Given the description of an element on the screen output the (x, y) to click on. 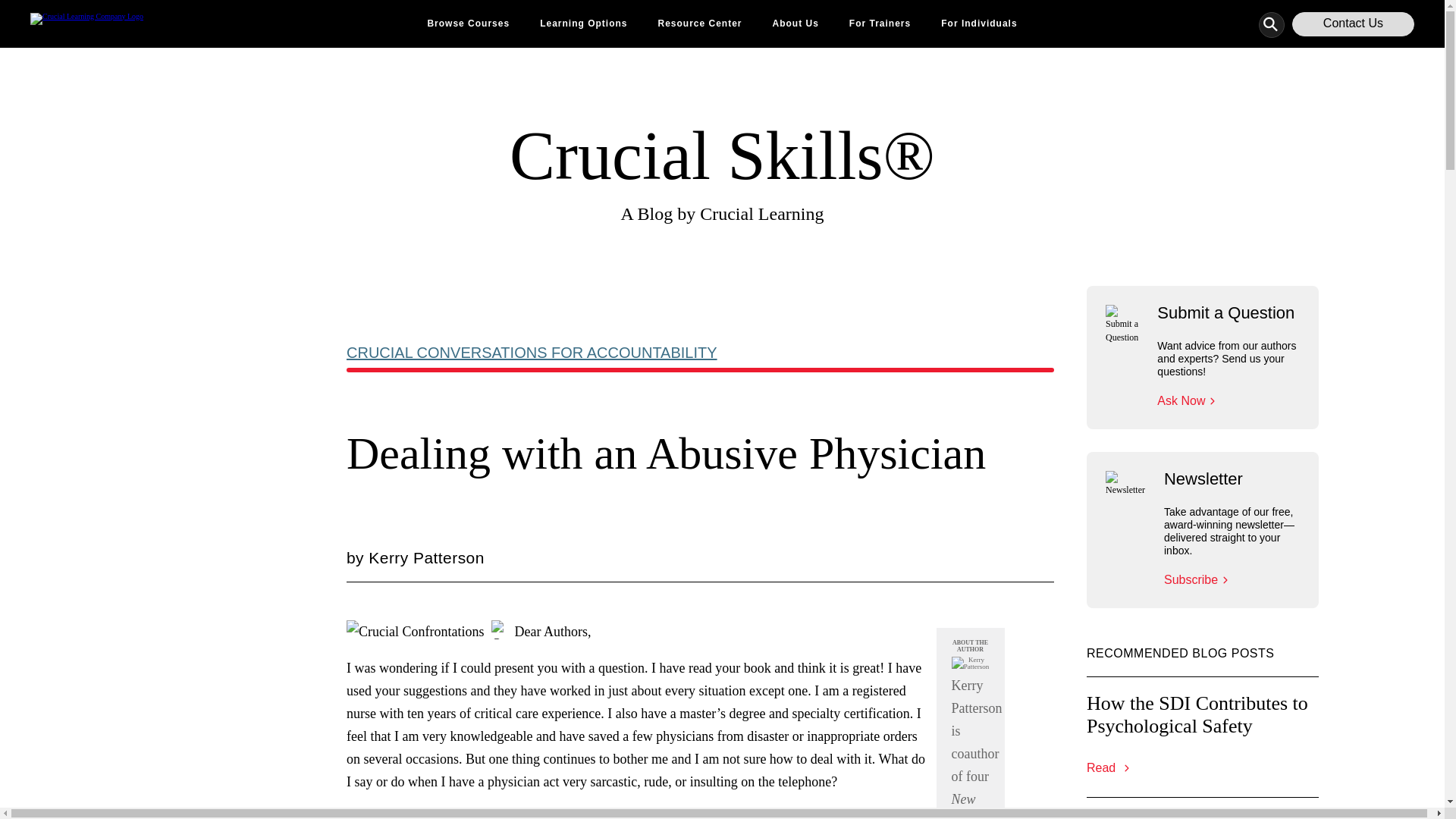
Resource Center (699, 24)
Browse Courses (467, 24)
Learning Options (583, 24)
For Trainers (879, 24)
For Individuals (978, 24)
Contact Us (1352, 24)
About Us (795, 24)
